Given the description of an element on the screen output the (x, y) to click on. 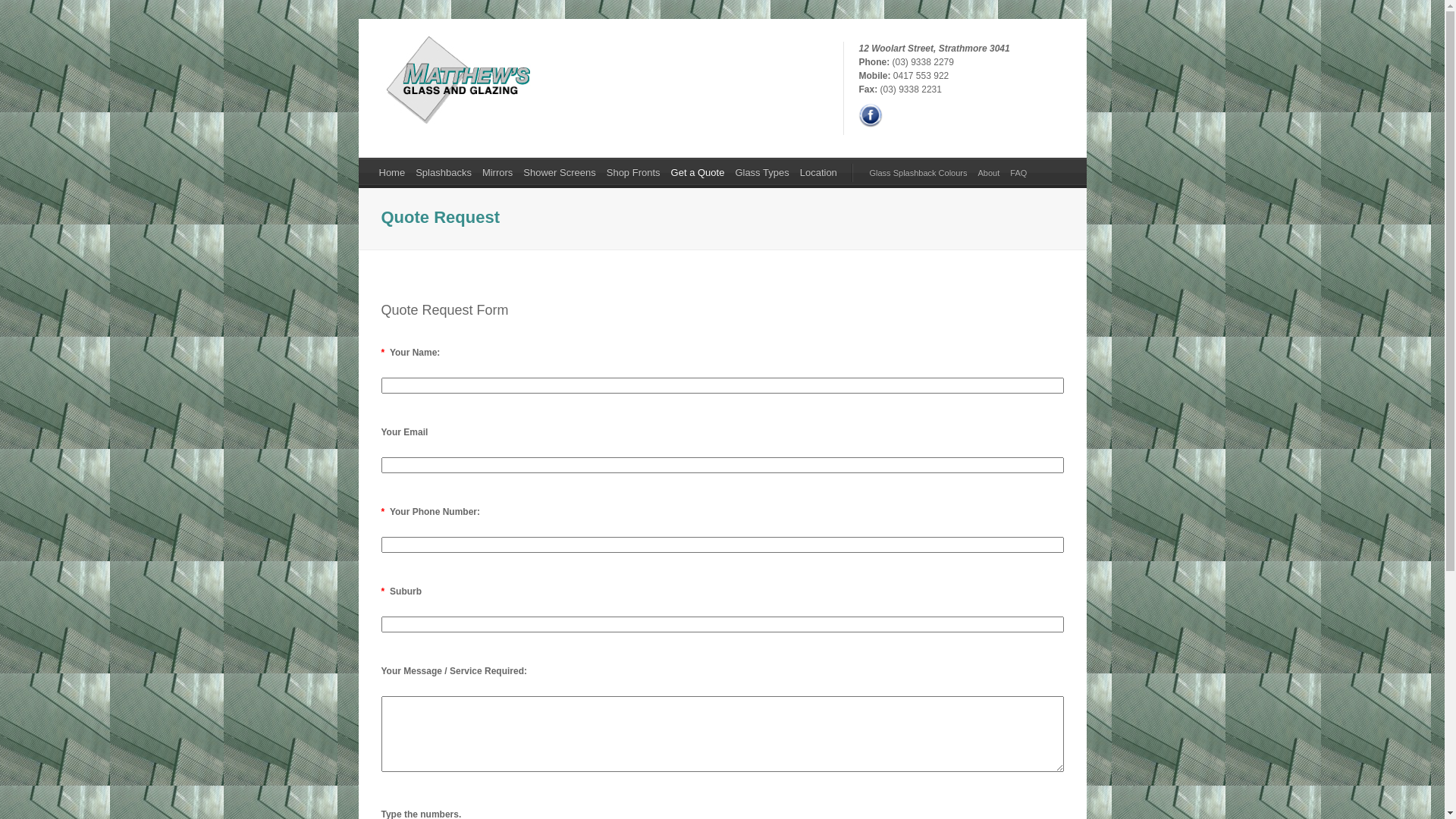
Glass Splashback Colours Element type: text (918, 172)
Get a Quote Element type: text (697, 172)
(03) 9338 2231 Element type: text (910, 89)
Matthews Glass Element type: hover (455, 121)
0417 553 922 Element type: text (920, 75)
About Element type: text (988, 172)
Location Element type: text (818, 172)
Splashbacks Element type: text (443, 172)
Glass Types Element type: text (761, 172)
FAQ Element type: text (1018, 172)
Mirrors Element type: text (496, 172)
Shop Fronts Element type: text (633, 172)
Home Element type: text (391, 172)
(03) 9338 2279 Element type: text (922, 61)
Shower Screens Element type: text (558, 172)
